Given the description of an element on the screen output the (x, y) to click on. 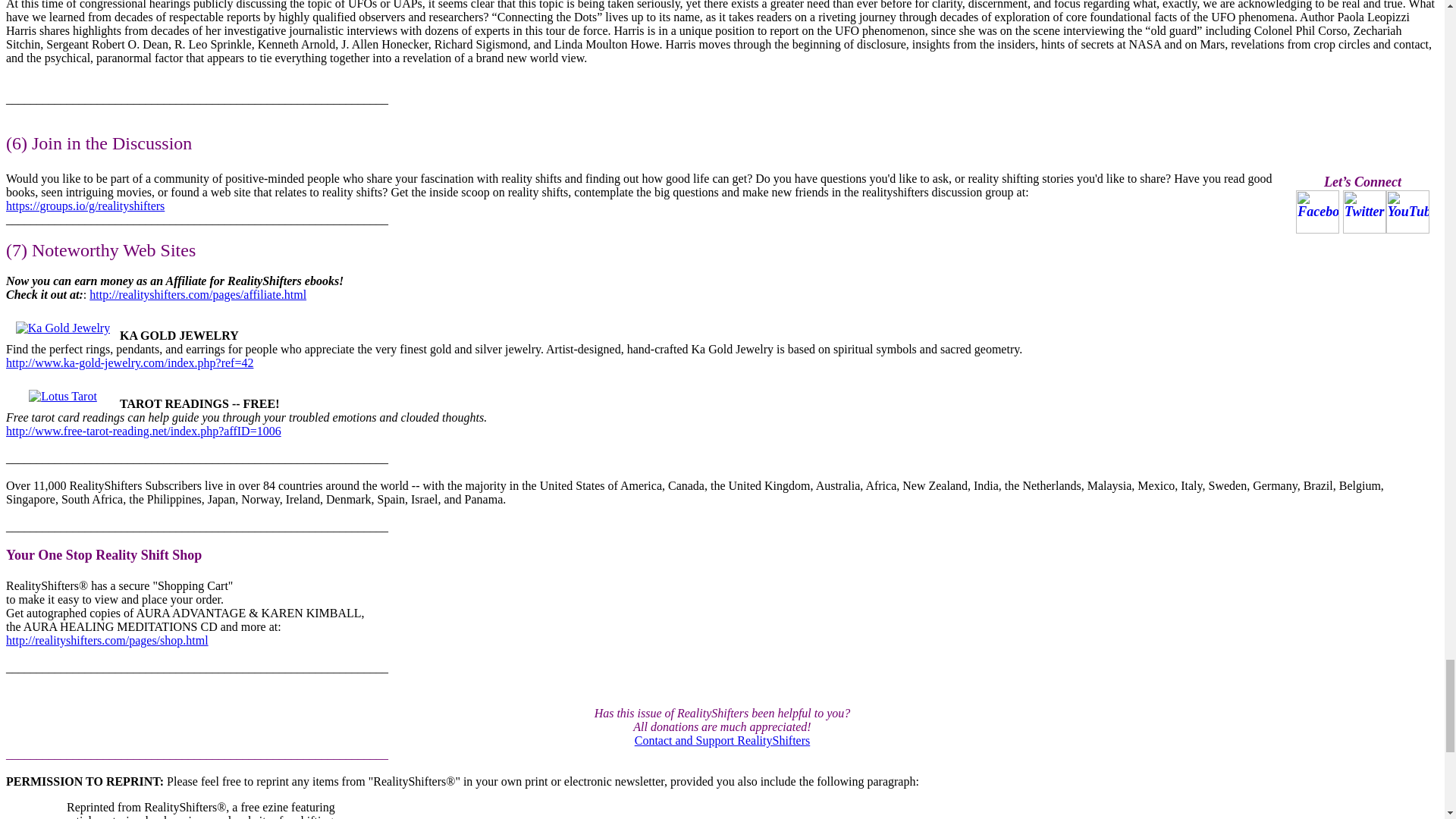
YouTube (1407, 211)
Facebook (1317, 211)
Twitter-ico (1364, 211)
